Given the description of an element on the screen output the (x, y) to click on. 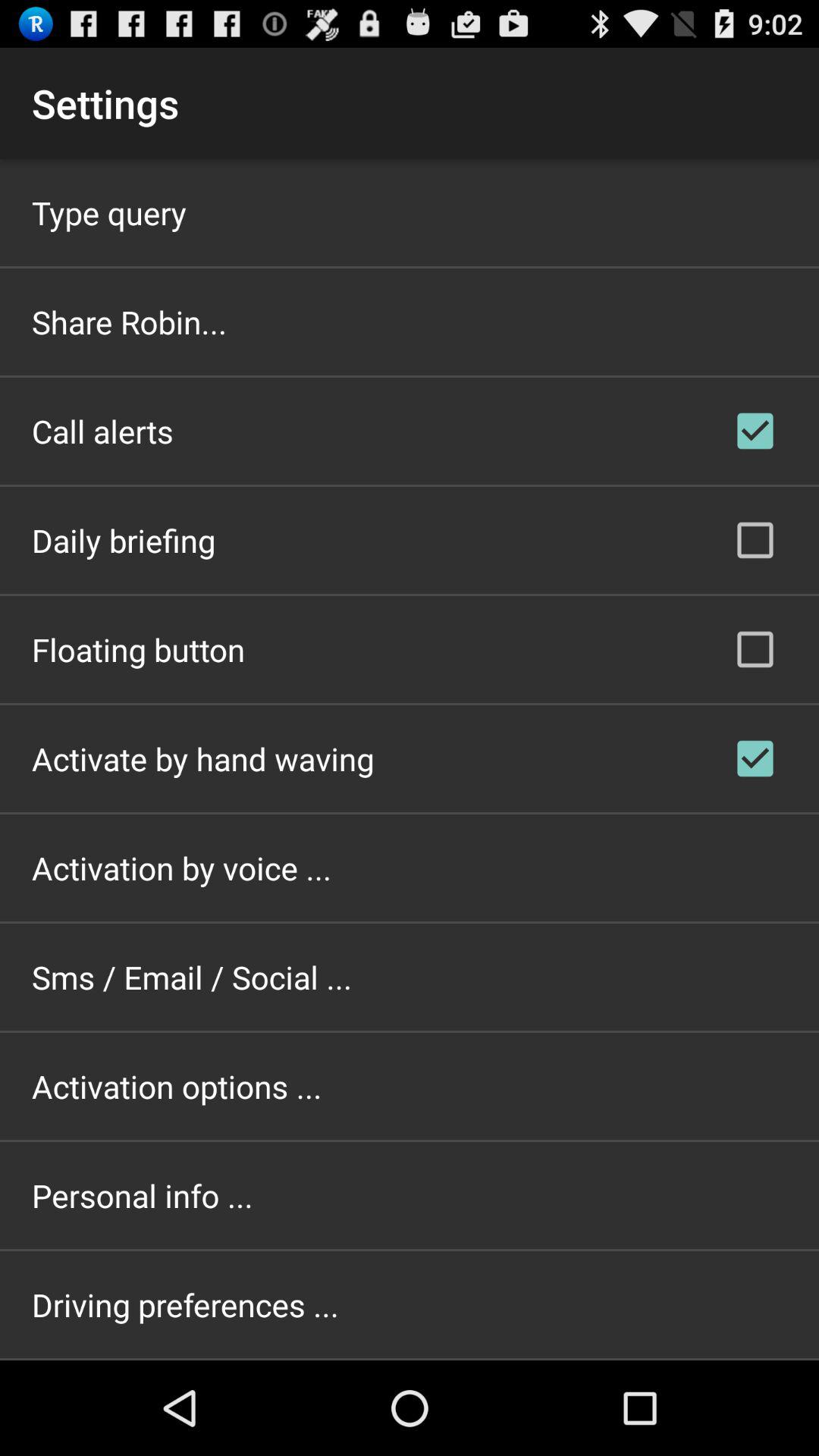
flip until sms / email / social ... icon (191, 976)
